Given the description of an element on the screen output the (x, y) to click on. 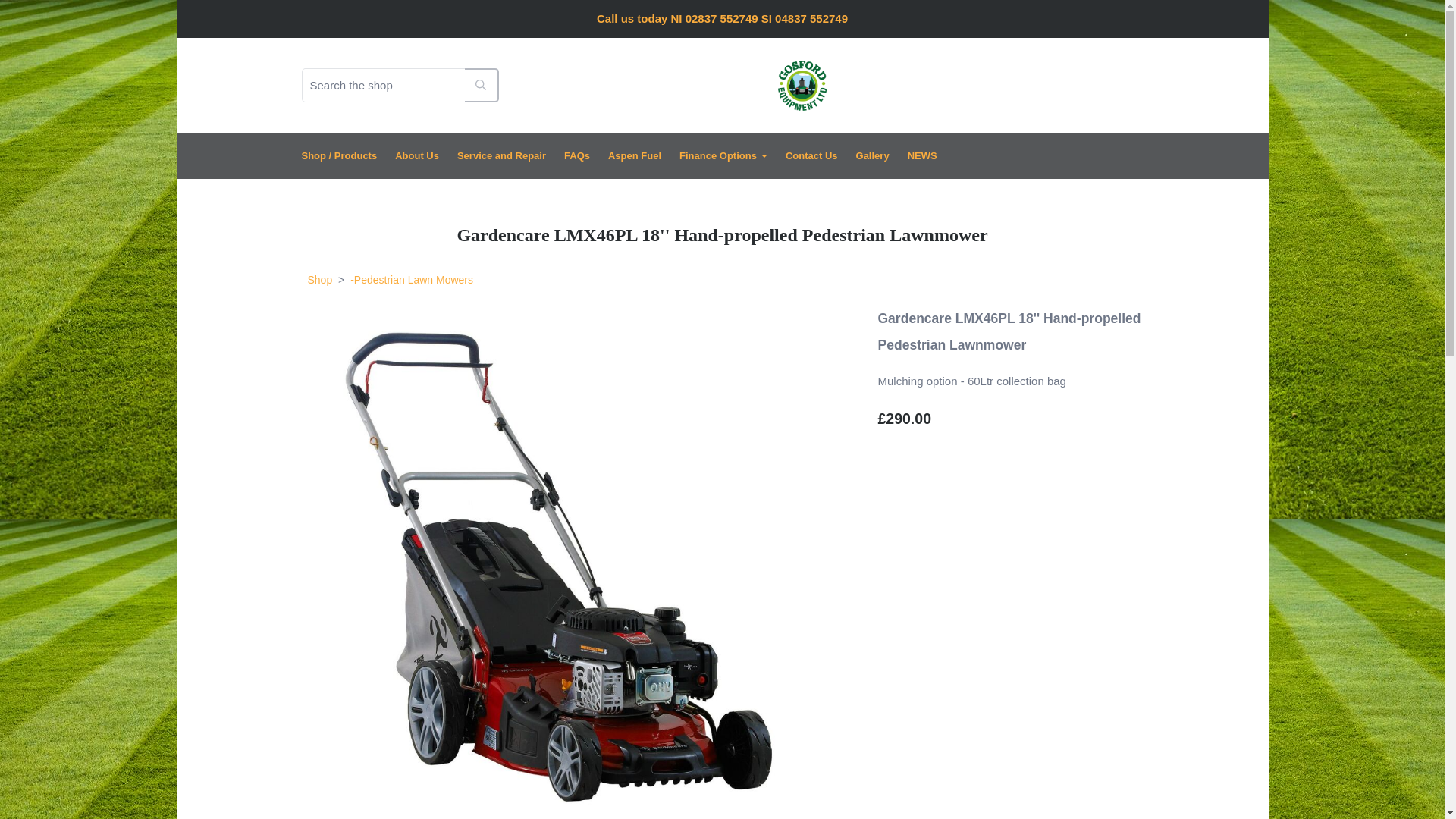
Finance Options (722, 155)
Service and Repair (501, 155)
FAQs (576, 155)
Contact Us (811, 155)
About Us (416, 155)
Gallery (872, 155)
NEWS (922, 155)
Aspen Fuel (633, 155)
Shop (320, 279)
-Pedestrian Lawn Mowers (411, 279)
